Given the description of an element on the screen output the (x, y) to click on. 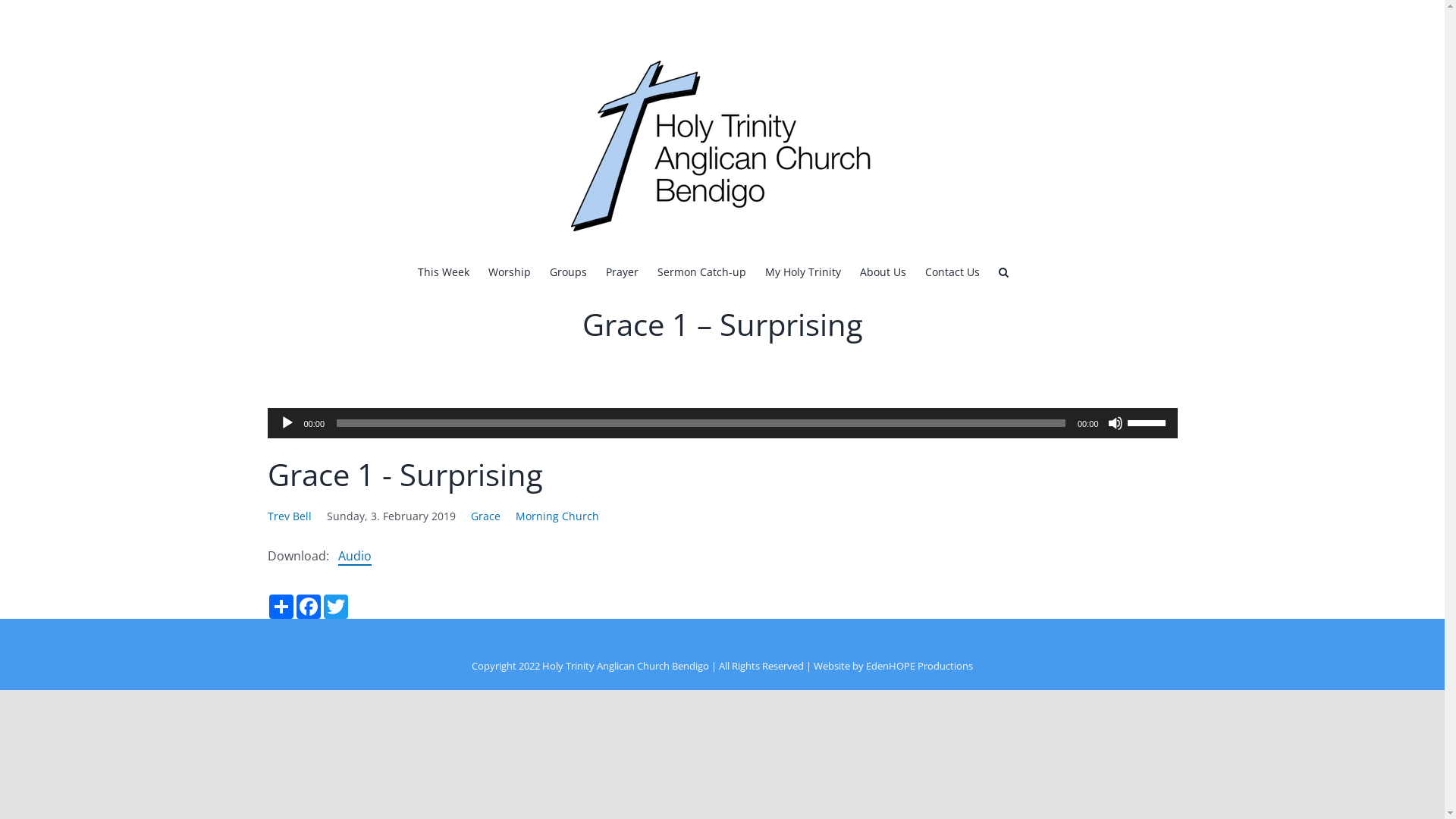
Trev Bell Element type: text (288, 515)
Facebook Element type: text (275, 18)
Mute Element type: hover (1114, 422)
Grace Element type: text (484, 515)
This Week Element type: text (442, 270)
Facebook Element type: text (307, 606)
Play Element type: hover (286, 422)
Twitter Element type: text (334, 606)
Prayer Element type: text (621, 270)
Worship Element type: text (509, 270)
My Holy Trinity Element type: text (802, 270)
Contact Us Element type: text (952, 270)
Audio Element type: text (354, 556)
Use Up/Down Arrow keys to increase or decrease volume. Element type: text (1147, 421)
About Us Element type: text (882, 270)
office@southeastbendigo.com Element type: text (1113, 17)
Morning Church Element type: text (557, 515)
Groups Element type: text (567, 270)
Search Element type: hover (1002, 270)
Share Element type: text (280, 606)
Sermon Catch-up Element type: text (700, 270)
